Given the description of an element on the screen output the (x, y) to click on. 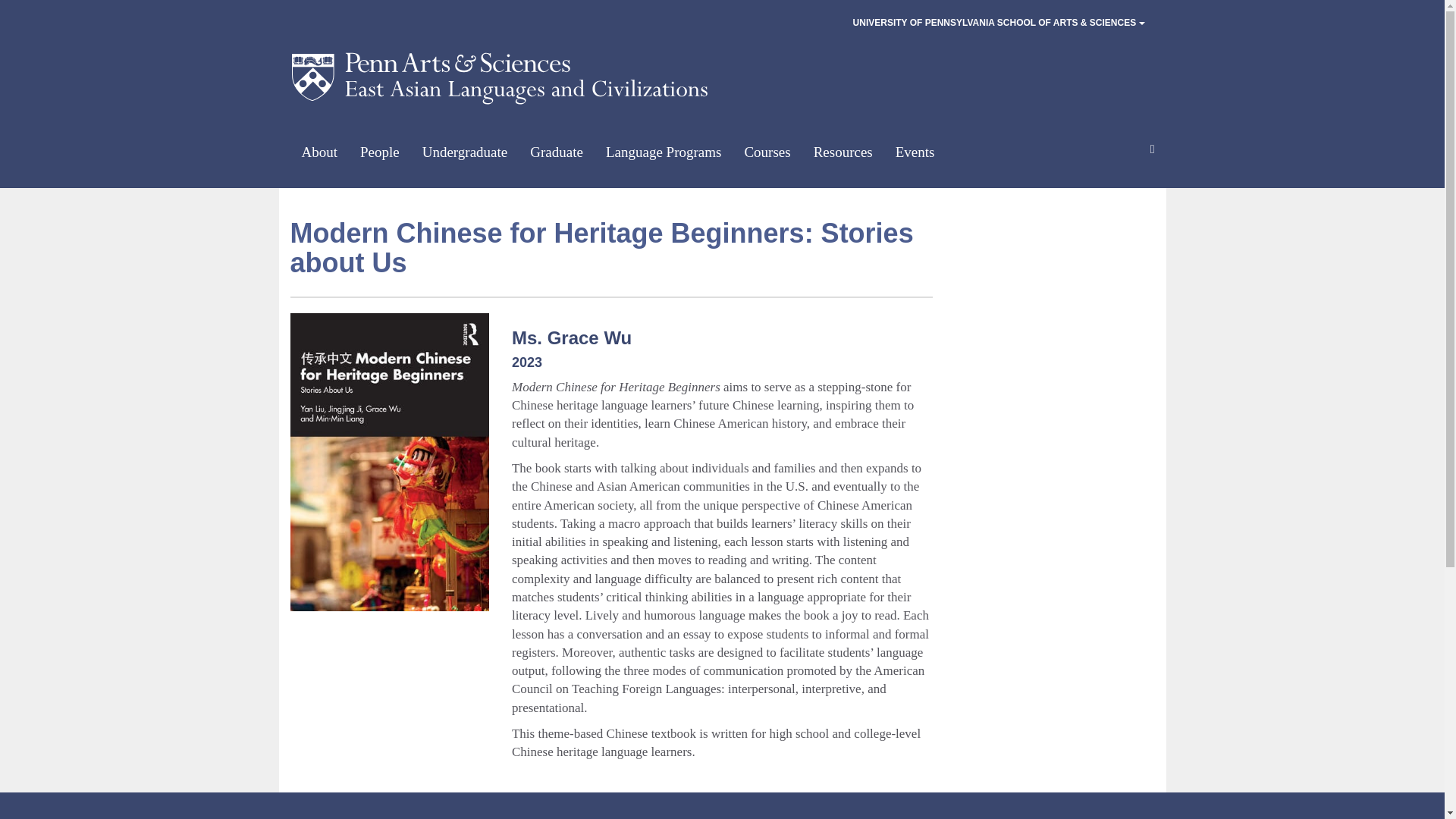
People (379, 152)
Events (914, 152)
About (319, 152)
Courses (767, 152)
Language Programs (663, 152)
Resources (842, 152)
Undergraduate (464, 152)
Graduate (556, 152)
